Given the description of an element on the screen output the (x, y) to click on. 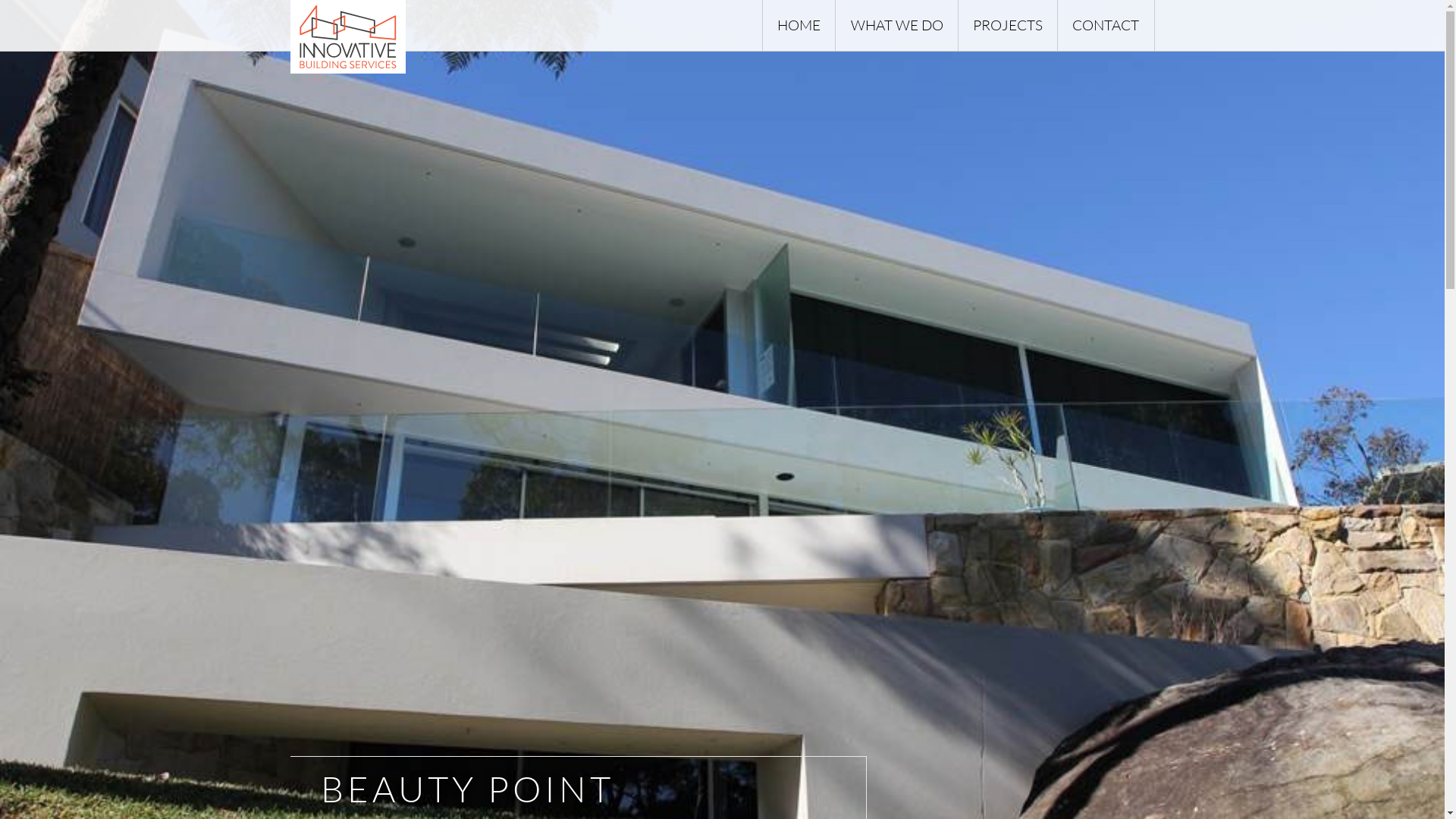
HOME Element type: text (798, 25)
CONTACT Element type: text (1105, 25)
PROJECTS Element type: text (1007, 25)
WHAT WE DO Element type: text (895, 25)
